Given the description of an element on the screen output the (x, y) to click on. 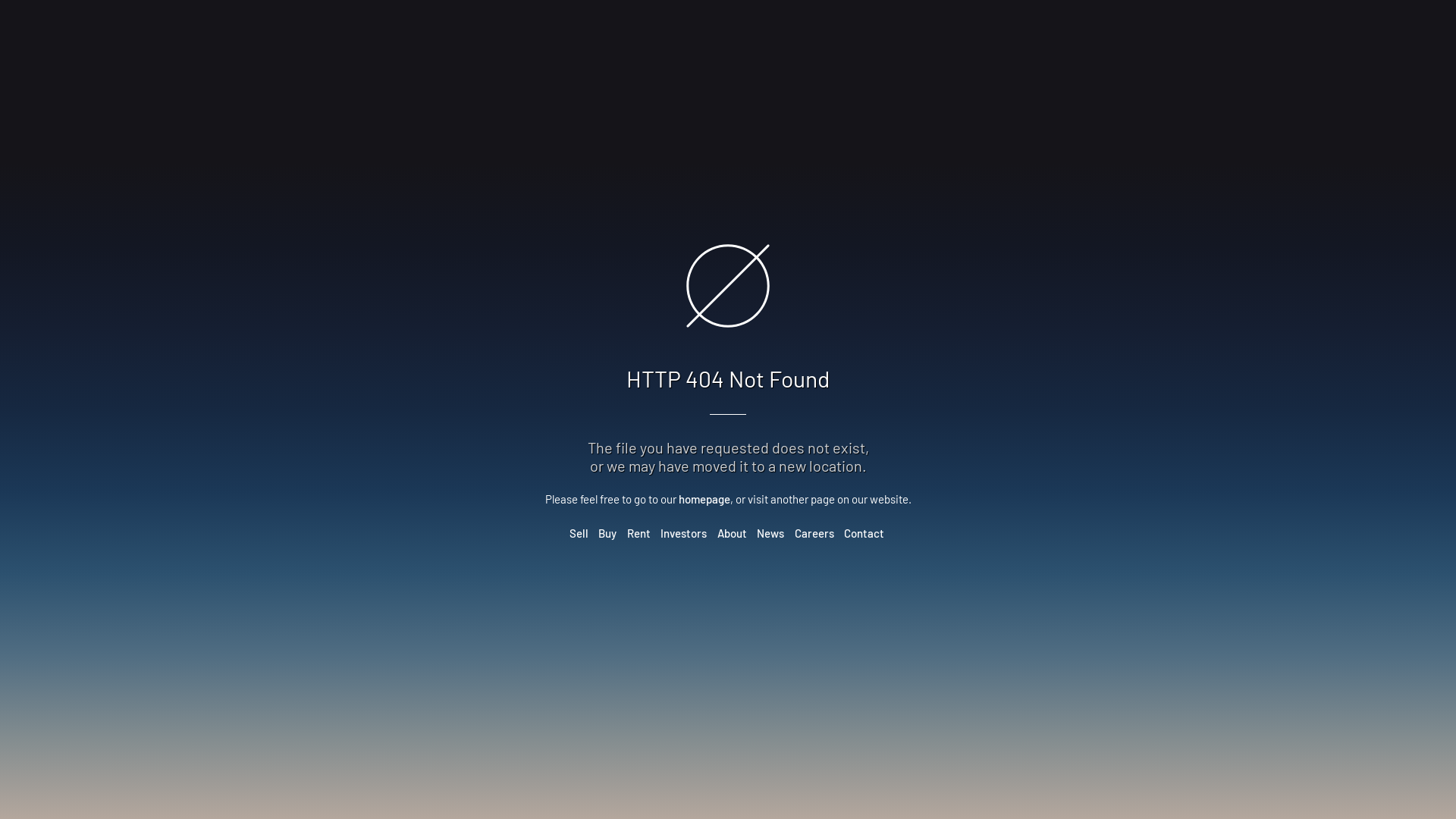
About Element type: text (731, 532)
Sell Element type: text (578, 532)
Contact Element type: text (864, 532)
Careers Element type: text (814, 532)
News Element type: text (770, 532)
Rent Element type: text (638, 532)
homepage Element type: text (703, 498)
Investors Element type: text (683, 532)
Buy Element type: text (607, 532)
